Given the description of an element on the screen output the (x, y) to click on. 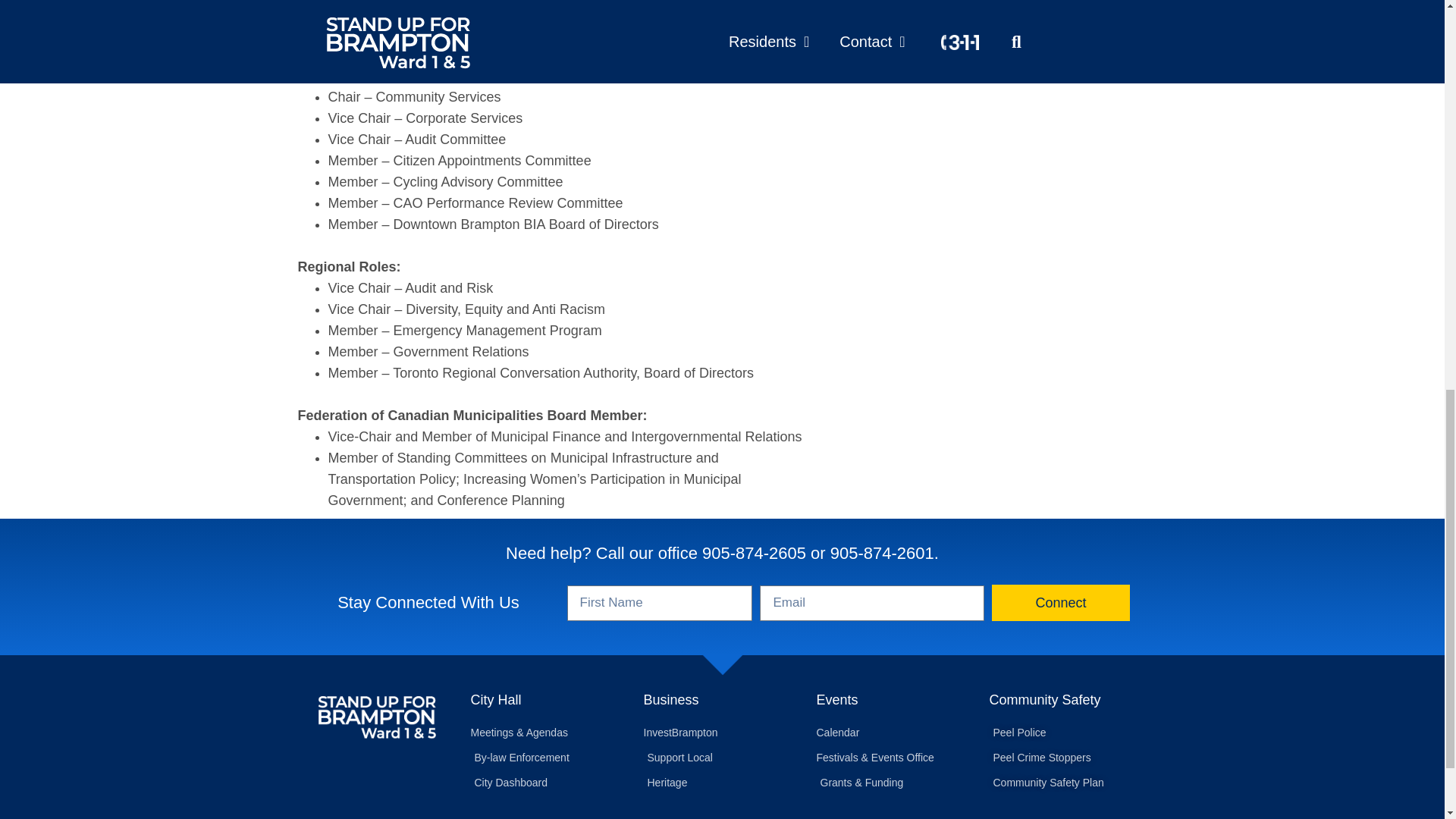
Connect (1060, 602)
